Given the description of an element on the screen output the (x, y) to click on. 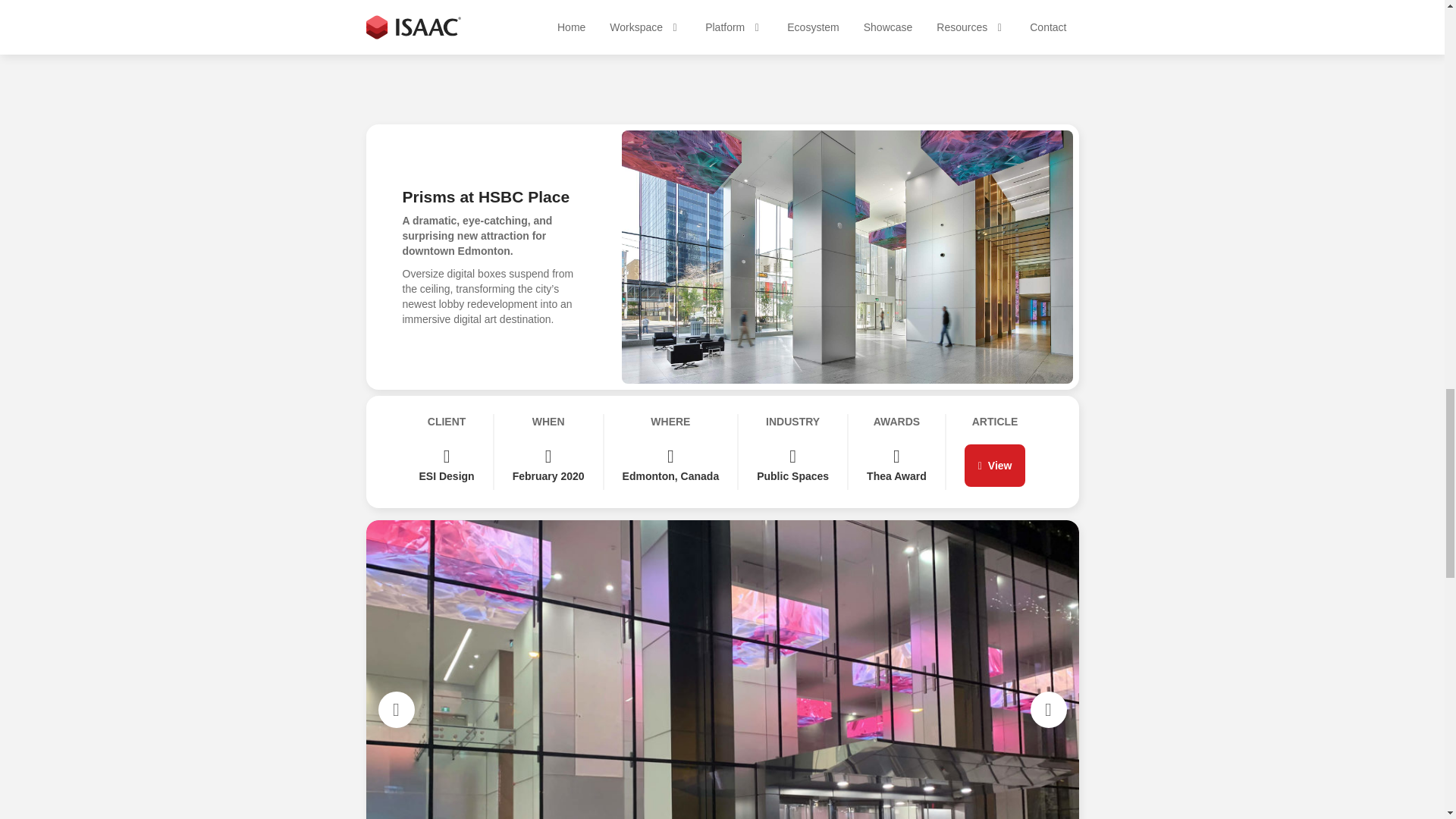
View All (1044, 42)
